Given the description of an element on the screen output the (x, y) to click on. 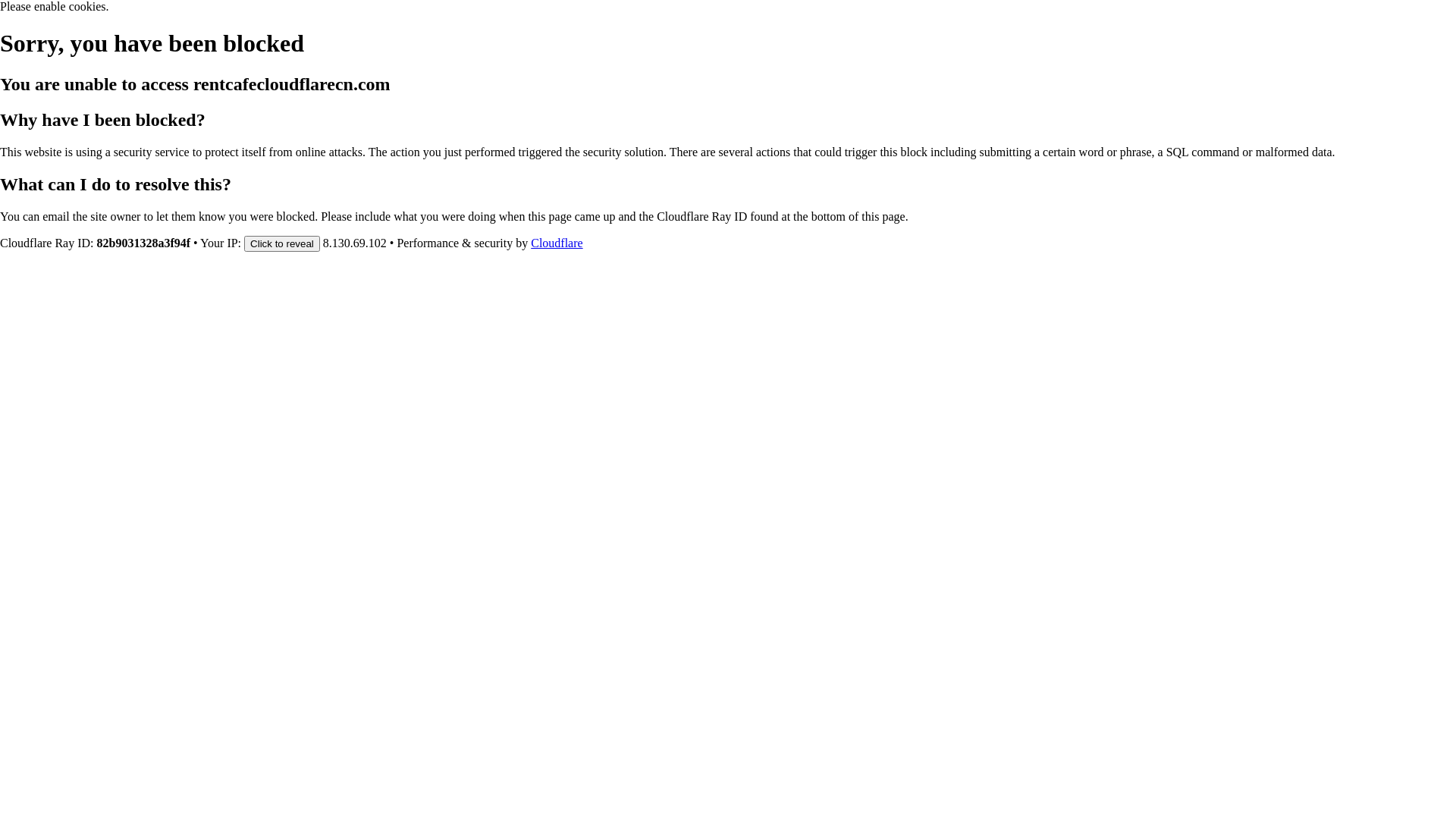
Click to reveal Element type: text (282, 243)
Cloudflare Element type: text (556, 242)
